Given the description of an element on the screen output the (x, y) to click on. 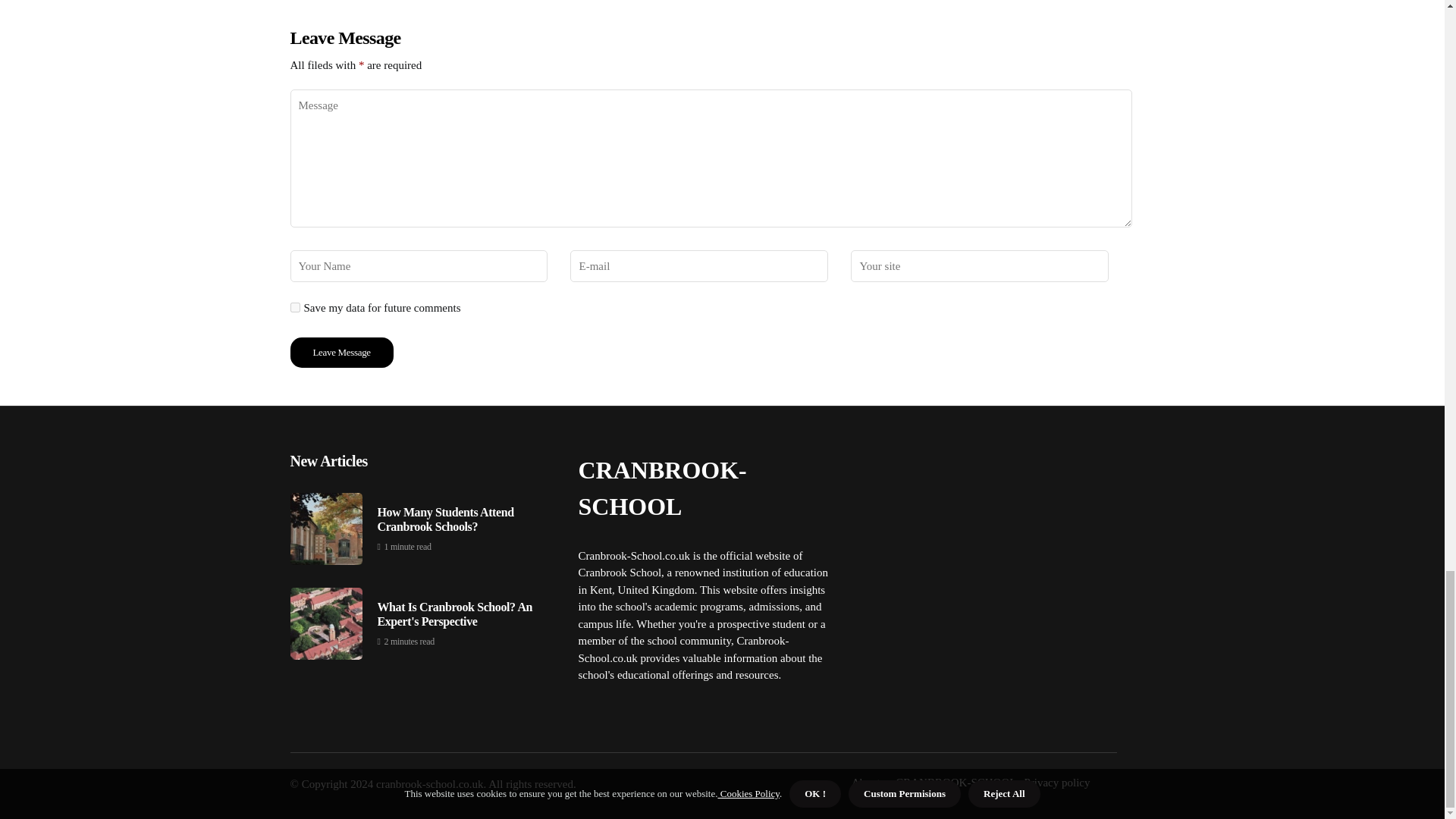
Leave Message (341, 352)
Leave Message (341, 352)
yes (294, 307)
